Given the description of an element on the screen output the (x, y) to click on. 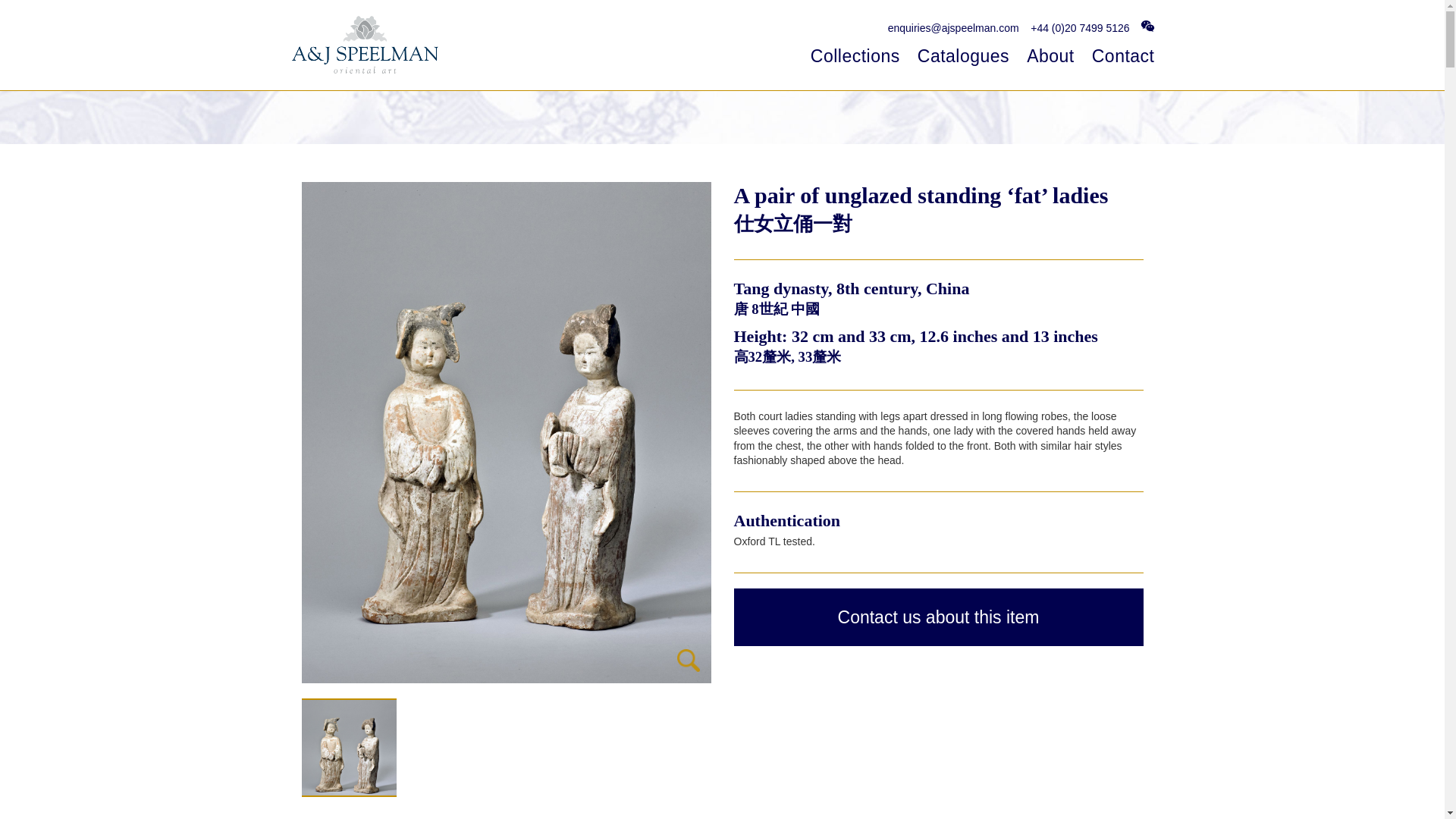
Contact us about this item (937, 617)
Catalogues (963, 55)
Collections (854, 55)
Contact (1123, 55)
About (1050, 55)
